Given the description of an element on the screen output the (x, y) to click on. 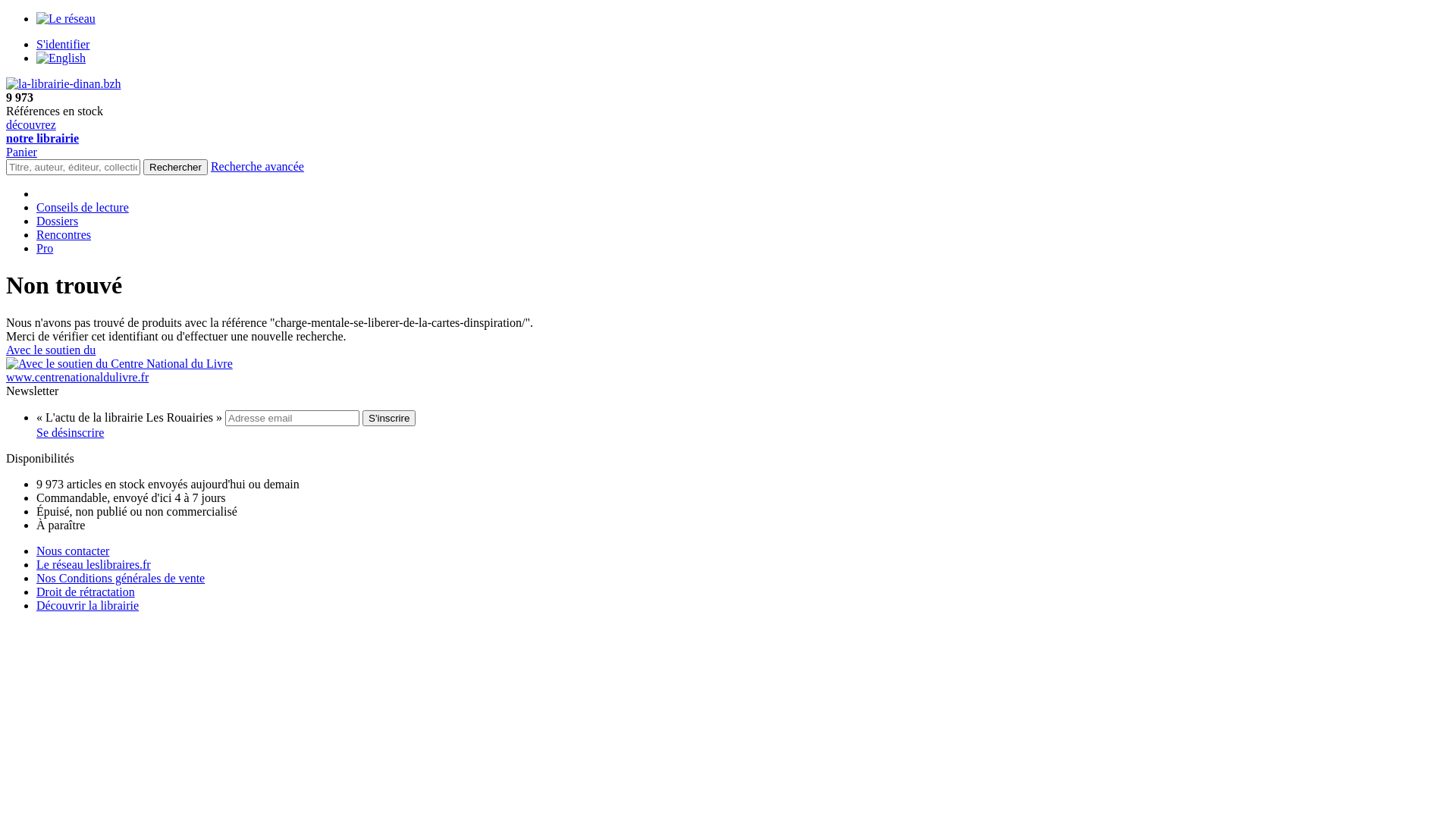
Conseils de lecture Element type: text (82, 206)
S'identifier Element type: text (62, 43)
Rencontres Element type: text (63, 234)
Panier Element type: text (21, 151)
Pro Element type: text (44, 247)
Dossiers Element type: text (57, 220)
Rechercher Element type: text (175, 167)
Nous contacter Element type: text (72, 550)
Avec le soutien du
www.centrenationaldulivre.fr Element type: text (727, 363)
S'inscrire Element type: text (388, 418)
